Given the description of an element on the screen output the (x, y) to click on. 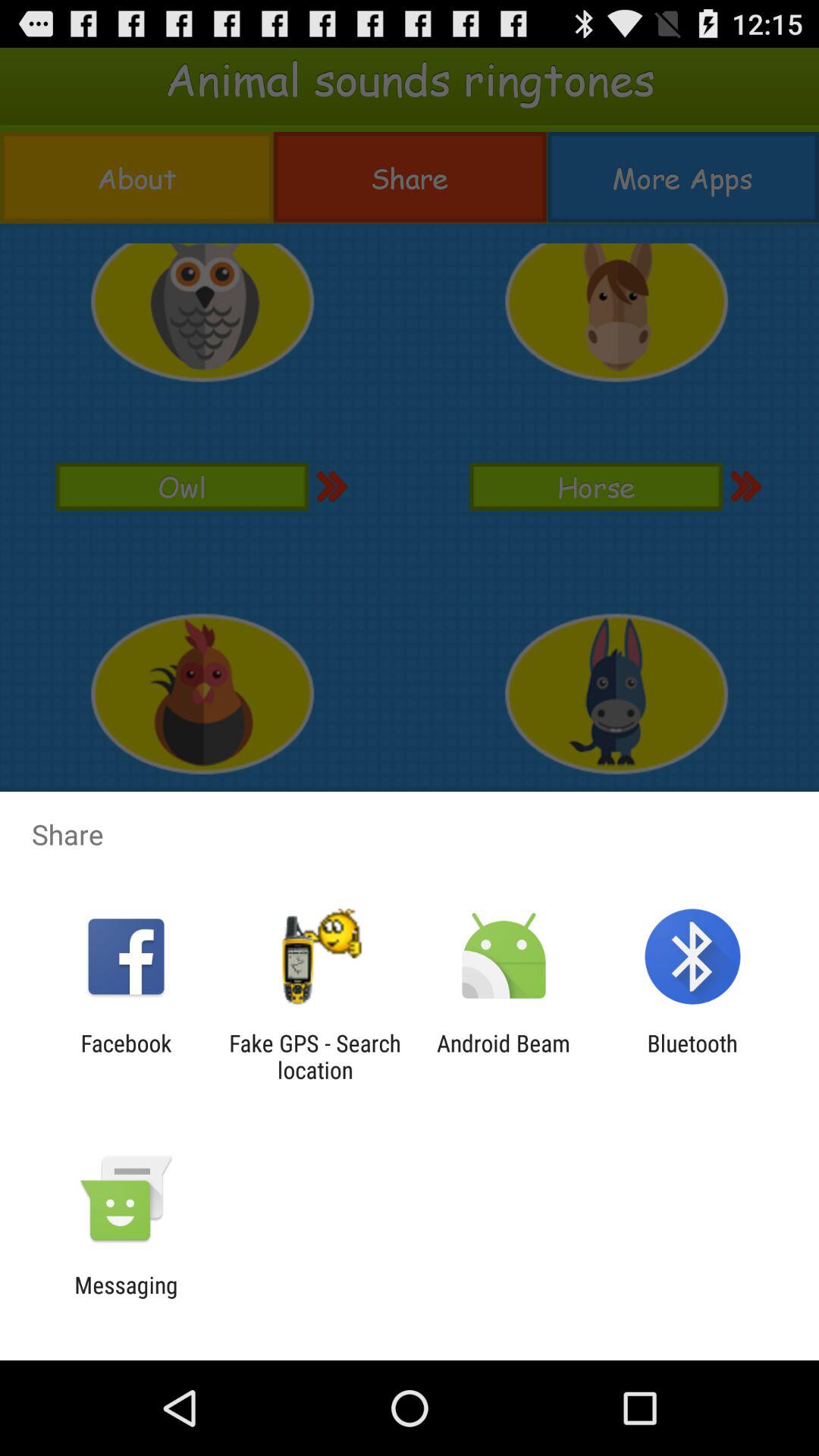
click the app to the left of the bluetooth icon (503, 1056)
